Given the description of an element on the screen output the (x, y) to click on. 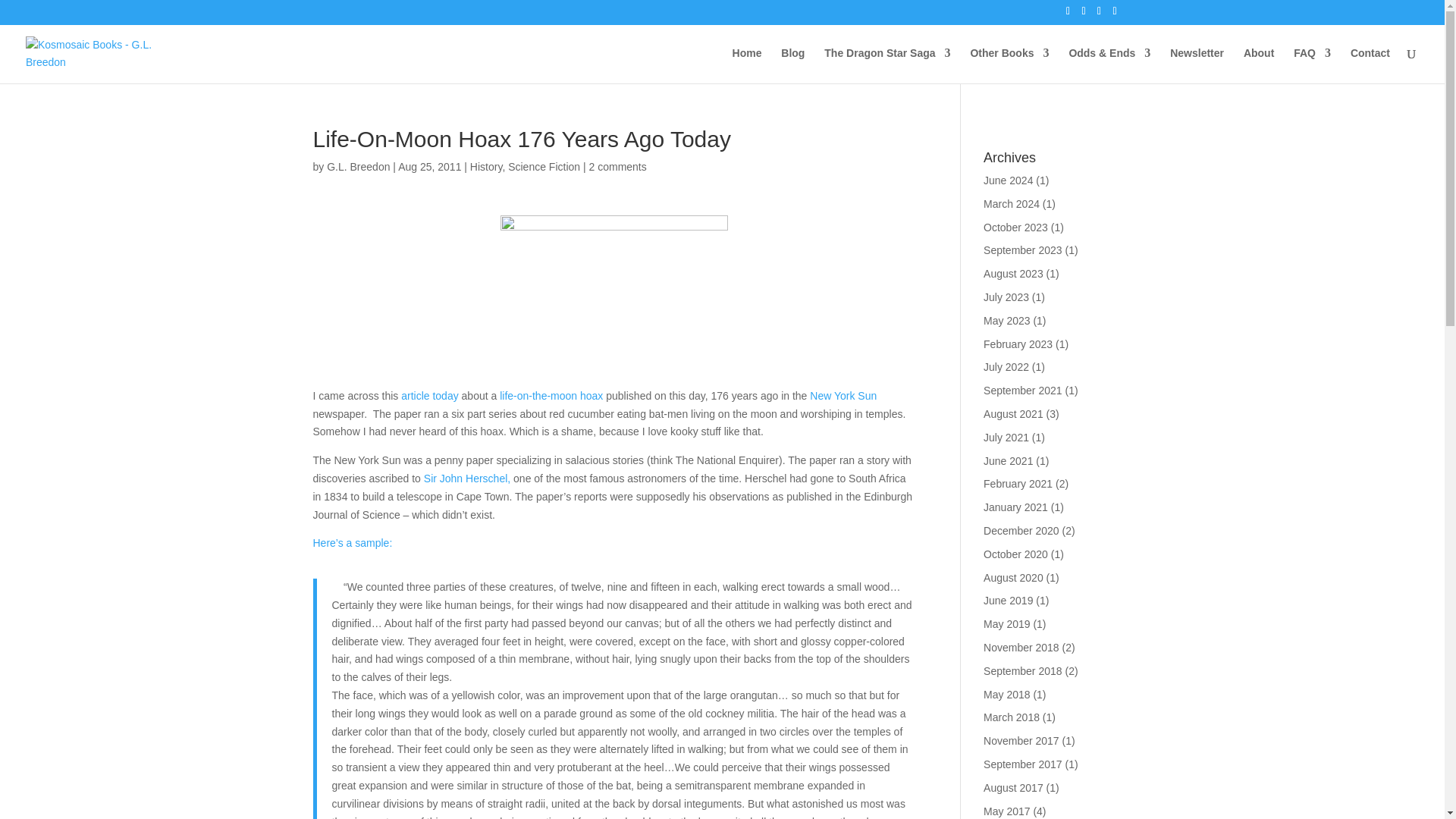
life-on-the-moon hoax (550, 395)
Science Fiction (543, 166)
Posts by G.L. Breedon (358, 166)
2 comments (617, 166)
FAQ (1312, 65)
Other Books (1008, 65)
article today (429, 395)
Moon-Hoax (614, 295)
G.L. Breedon (358, 166)
The Dragon Star Saga (887, 65)
Contact (1370, 65)
Newsletter (1197, 65)
History (486, 166)
